Given the description of an element on the screen output the (x, y) to click on. 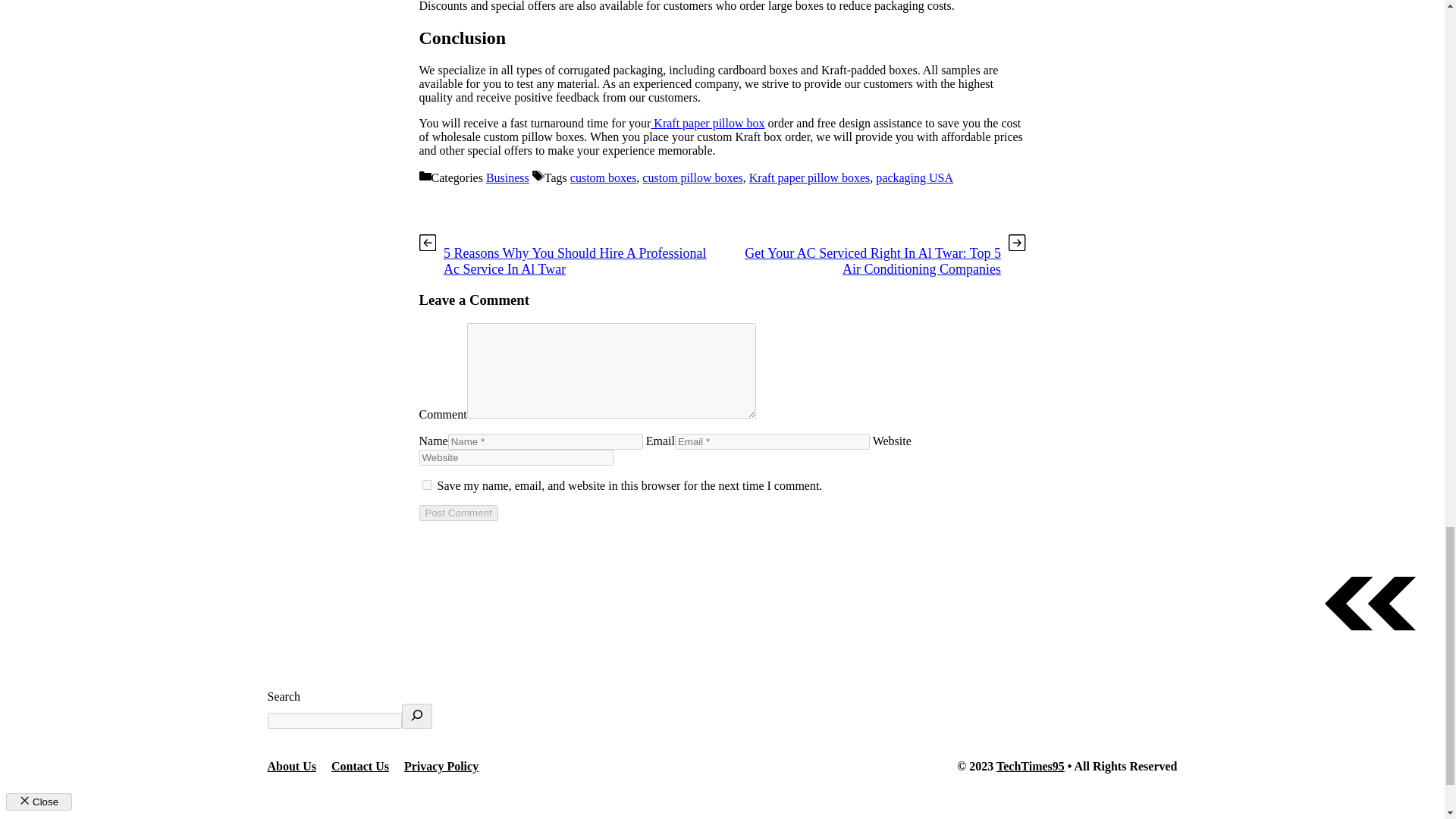
About Us (290, 766)
Post Comment (458, 512)
Privacy Policy (441, 766)
Business (507, 177)
TechTimes95 (1029, 766)
custom pillow boxes (692, 177)
yes (426, 484)
Kraft paper pillow box (707, 123)
custom boxes (603, 177)
Contact Us (359, 766)
Close (38, 801)
Post Comment (458, 512)
Kraft paper pillow boxes (809, 177)
